Given the description of an element on the screen output the (x, y) to click on. 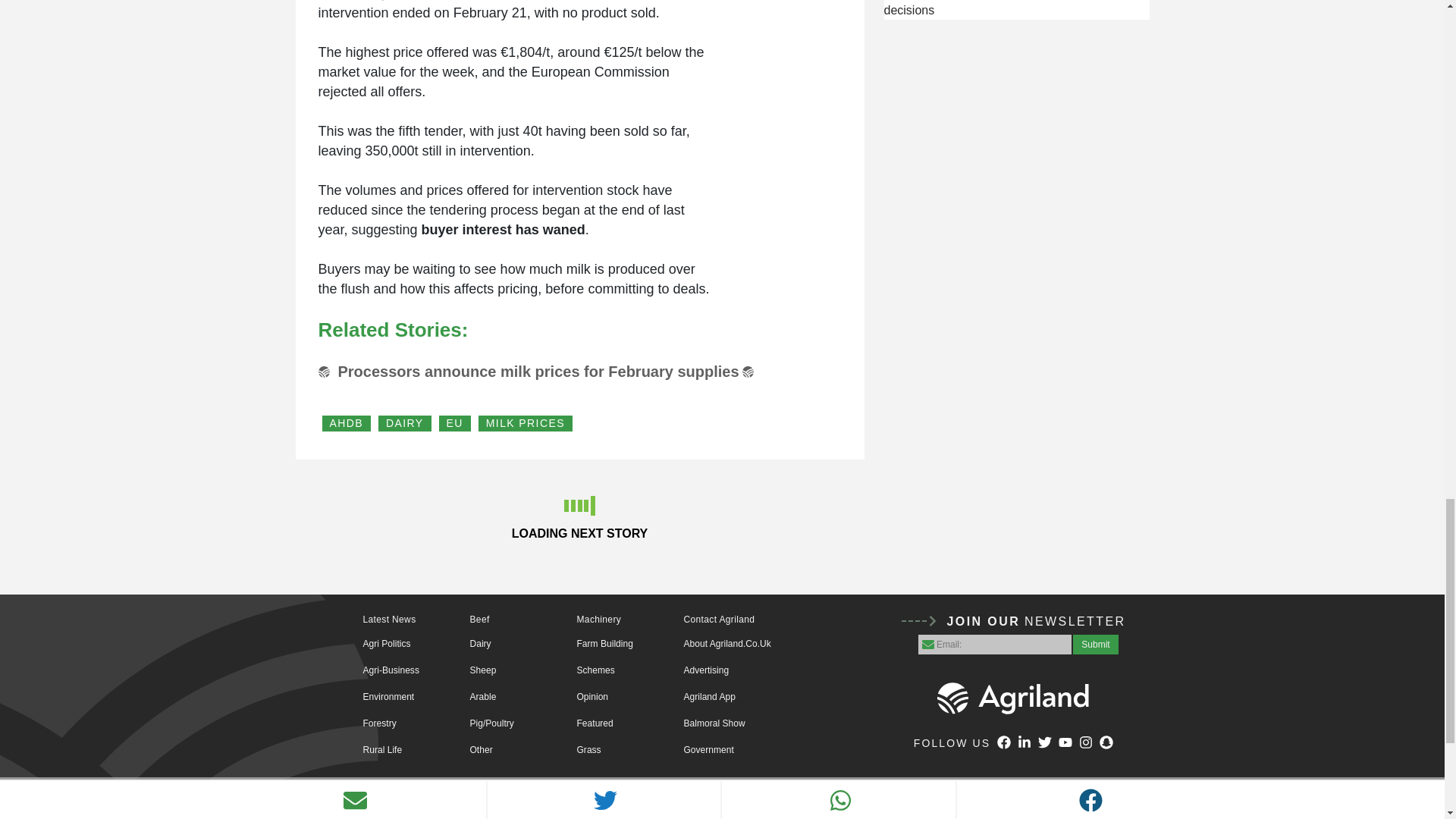
Link to Snap Chat (1106, 744)
Link to Facebook (1003, 744)
Link to Instagram (1085, 744)
Link to Twitter (1044, 744)
Link to You Tube (1064, 744)
Link to Linked In (1023, 744)
